Given the description of an element on the screen output the (x, y) to click on. 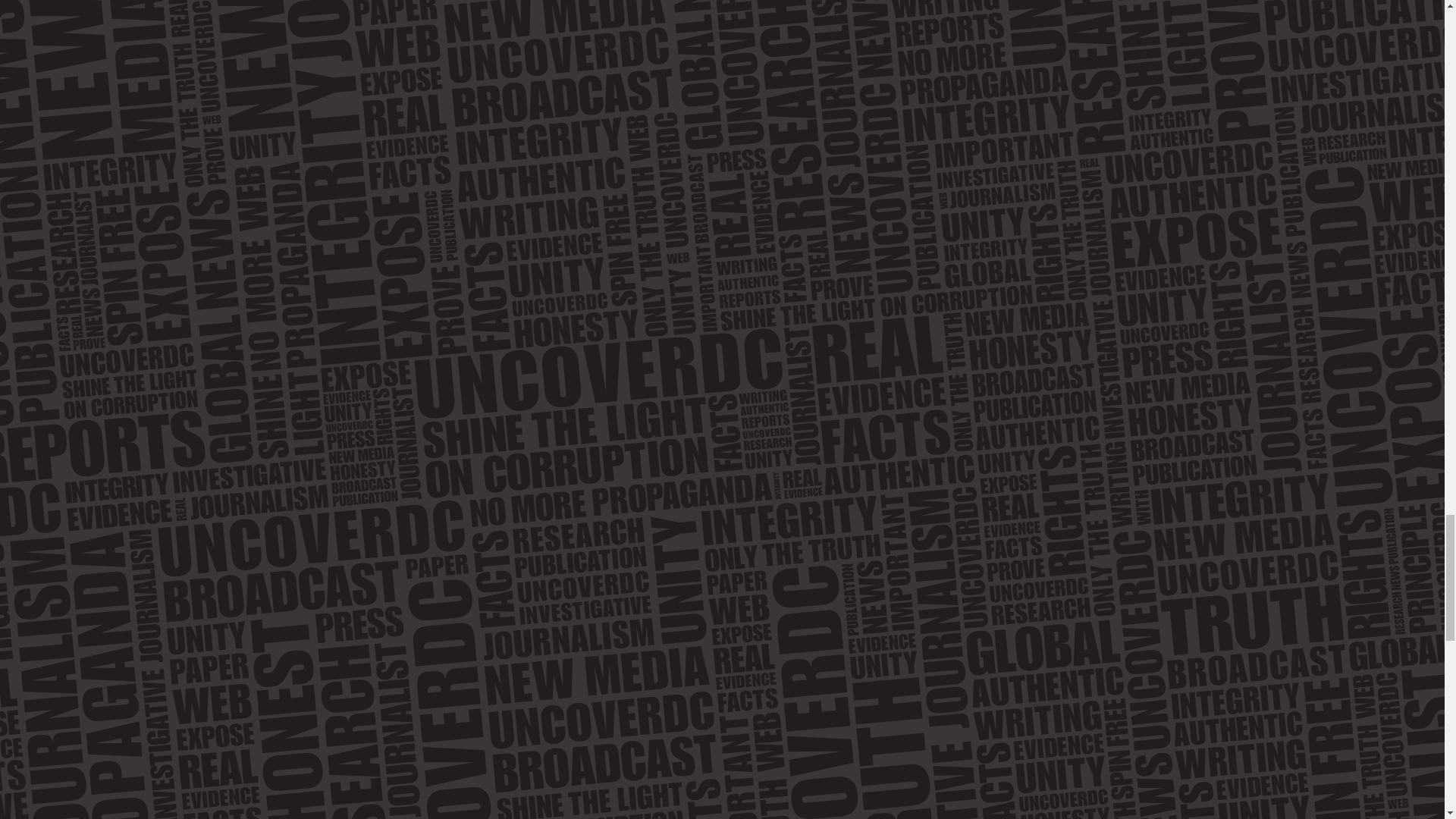
Instagram (70, 484)
Locals (229, 484)
Telegram (123, 484)
Gettr (203, 484)
Facebook (17, 484)
Truth (176, 484)
Gab (96, 484)
Twitter (43, 484)
Rumble (149, 484)
RSS (255, 484)
